Given the description of an element on the screen output the (x, y) to click on. 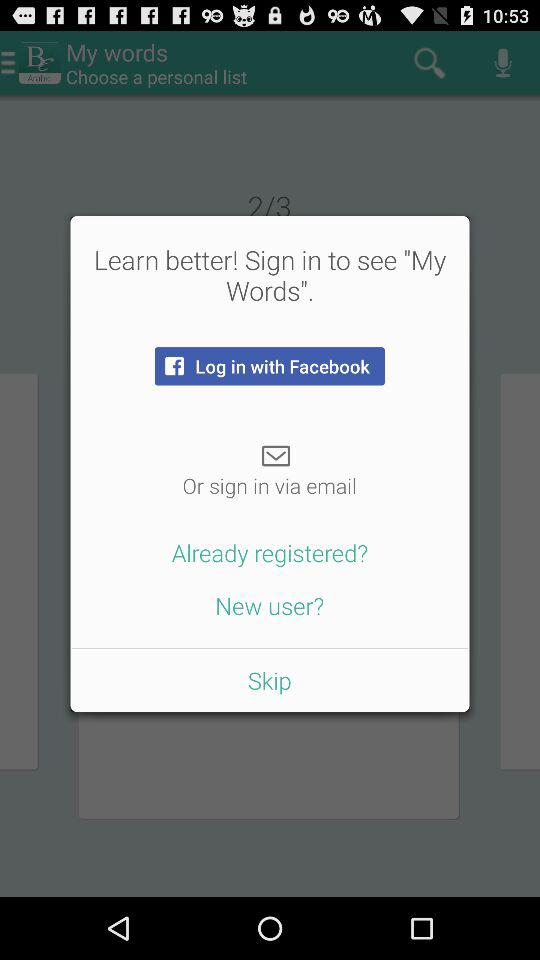
launch the icon above the new user? button (269, 552)
